Given the description of an element on the screen output the (x, y) to click on. 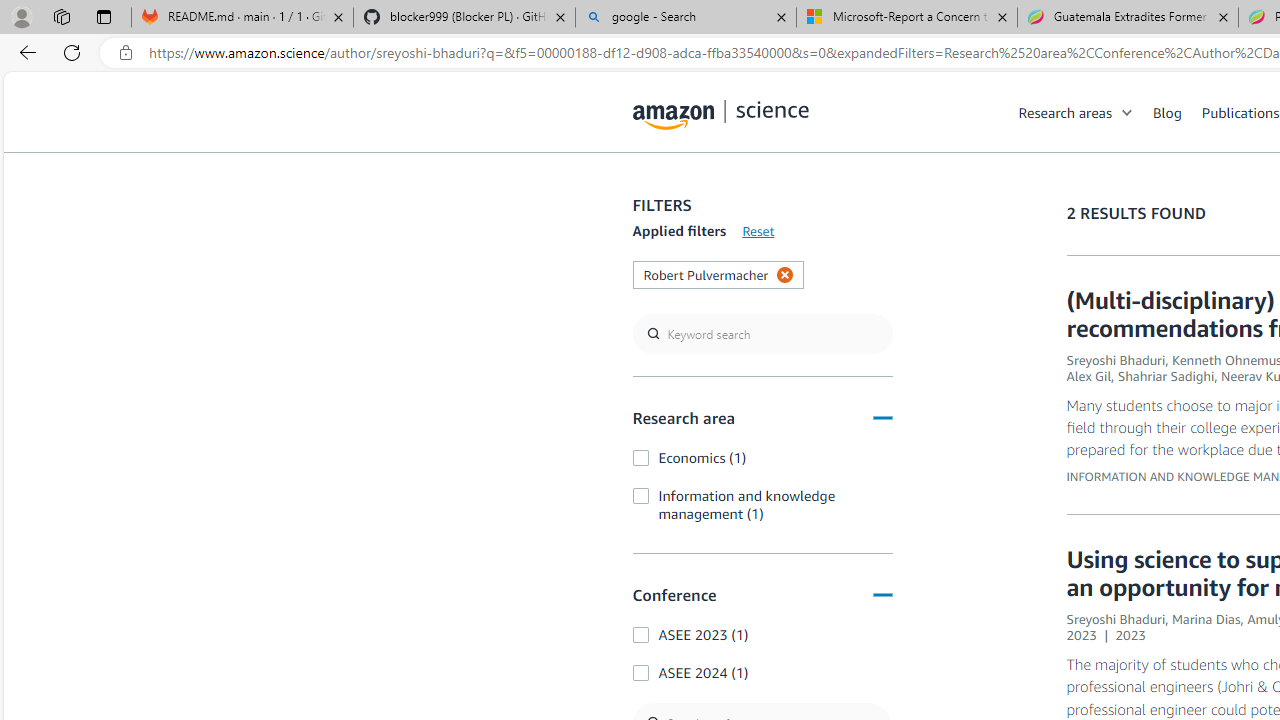
Research areas (1065, 111)
Alex Gil (1089, 376)
Publications (1240, 111)
Reset (758, 231)
Class: icon-magnify (654, 192)
Shahriar Sadighi (1165, 376)
Class: chevron (1128, 116)
Marina Dias (1206, 619)
amazon-science-logo.svg (721, 115)
